Given the description of an element on the screen output the (x, y) to click on. 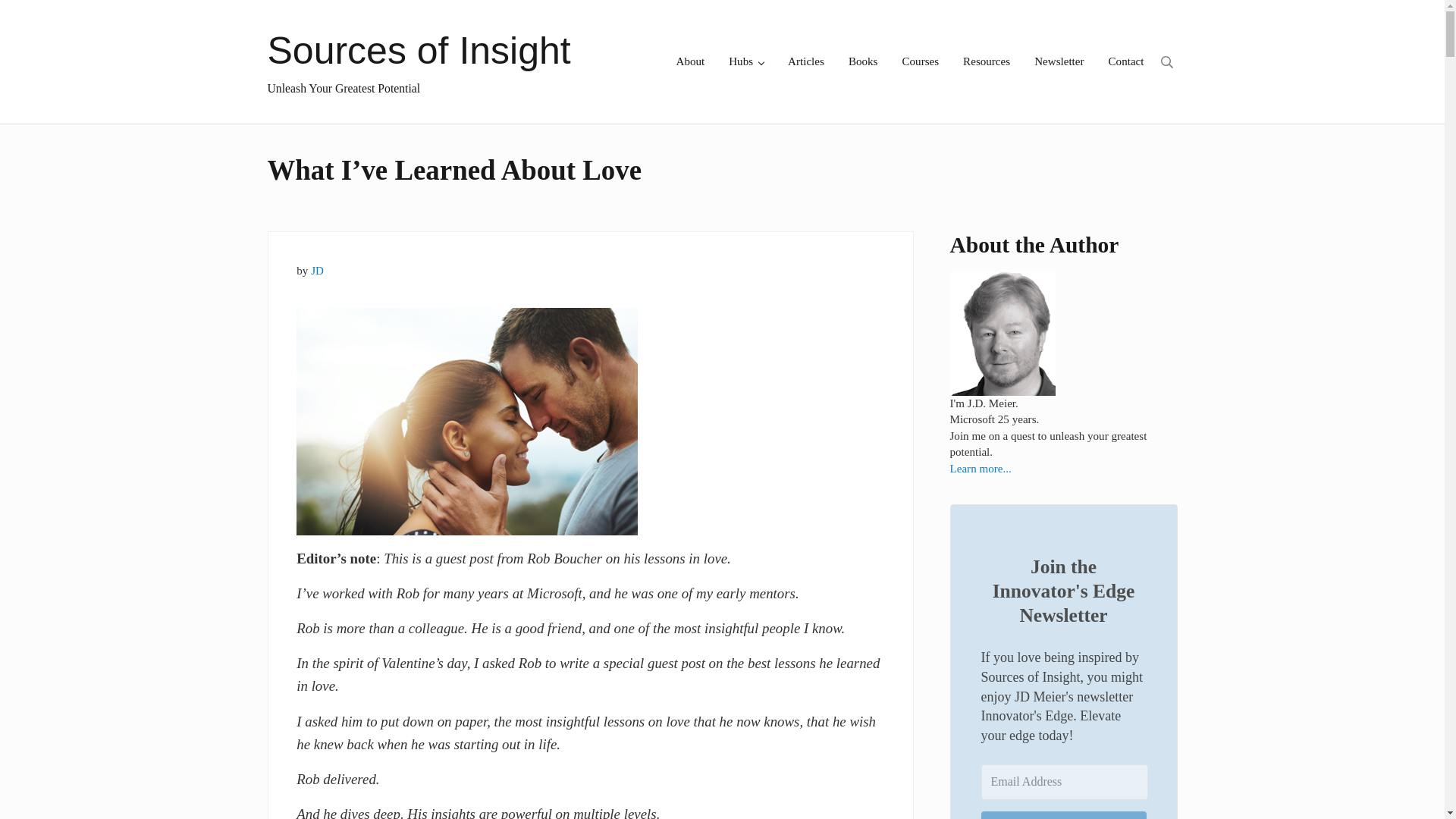
search (1166, 61)
Contact (1126, 61)
Sources of Insight (418, 50)
Resources (986, 61)
Courses (919, 61)
Books (862, 61)
Newsletter (1059, 61)
Articles (805, 61)
Hubs (746, 61)
About (689, 61)
image (467, 421)
